Given the description of an element on the screen output the (x, y) to click on. 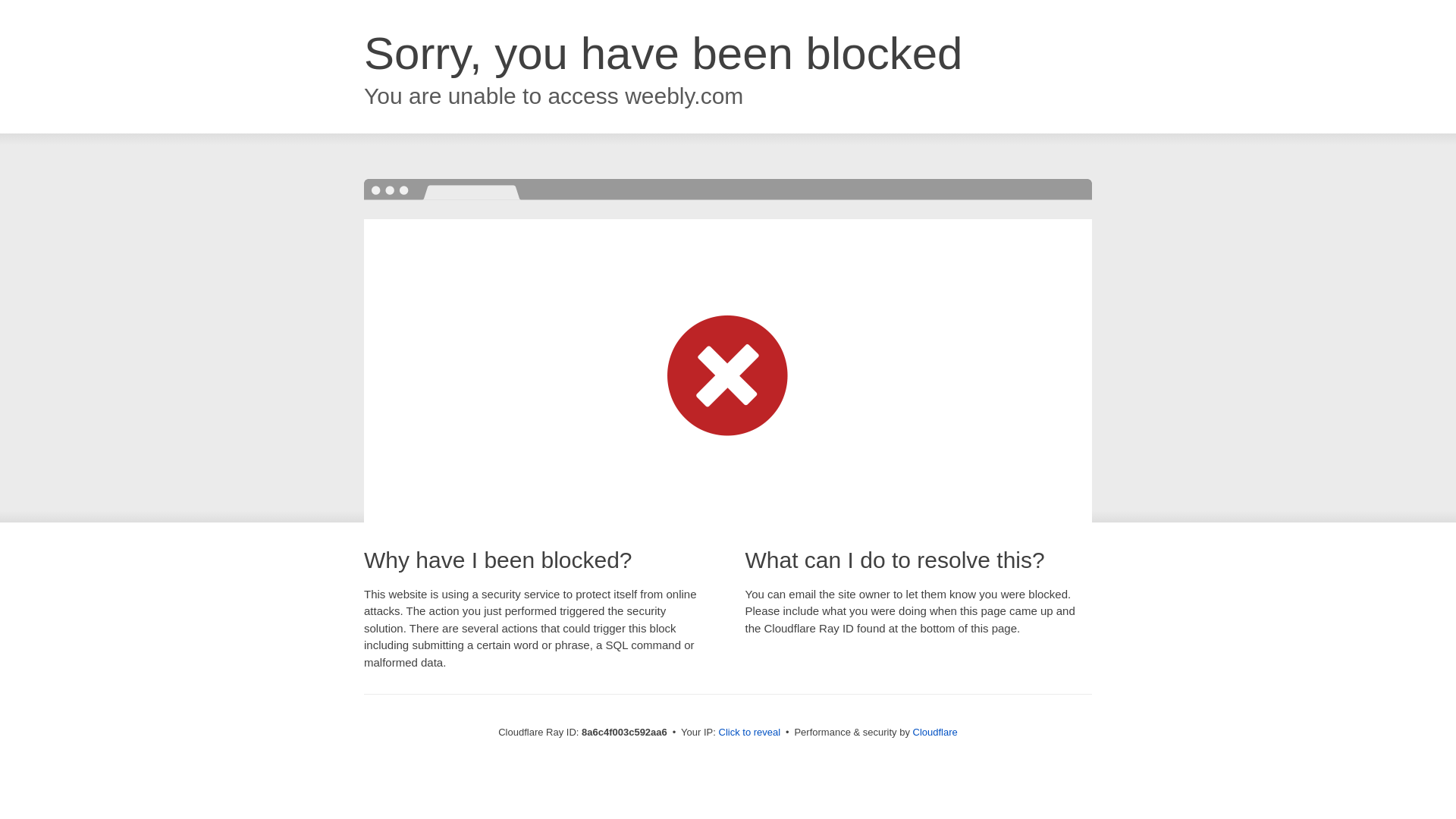
Cloudflare (935, 731)
Click to reveal (749, 732)
